Given the description of an element on the screen output the (x, y) to click on. 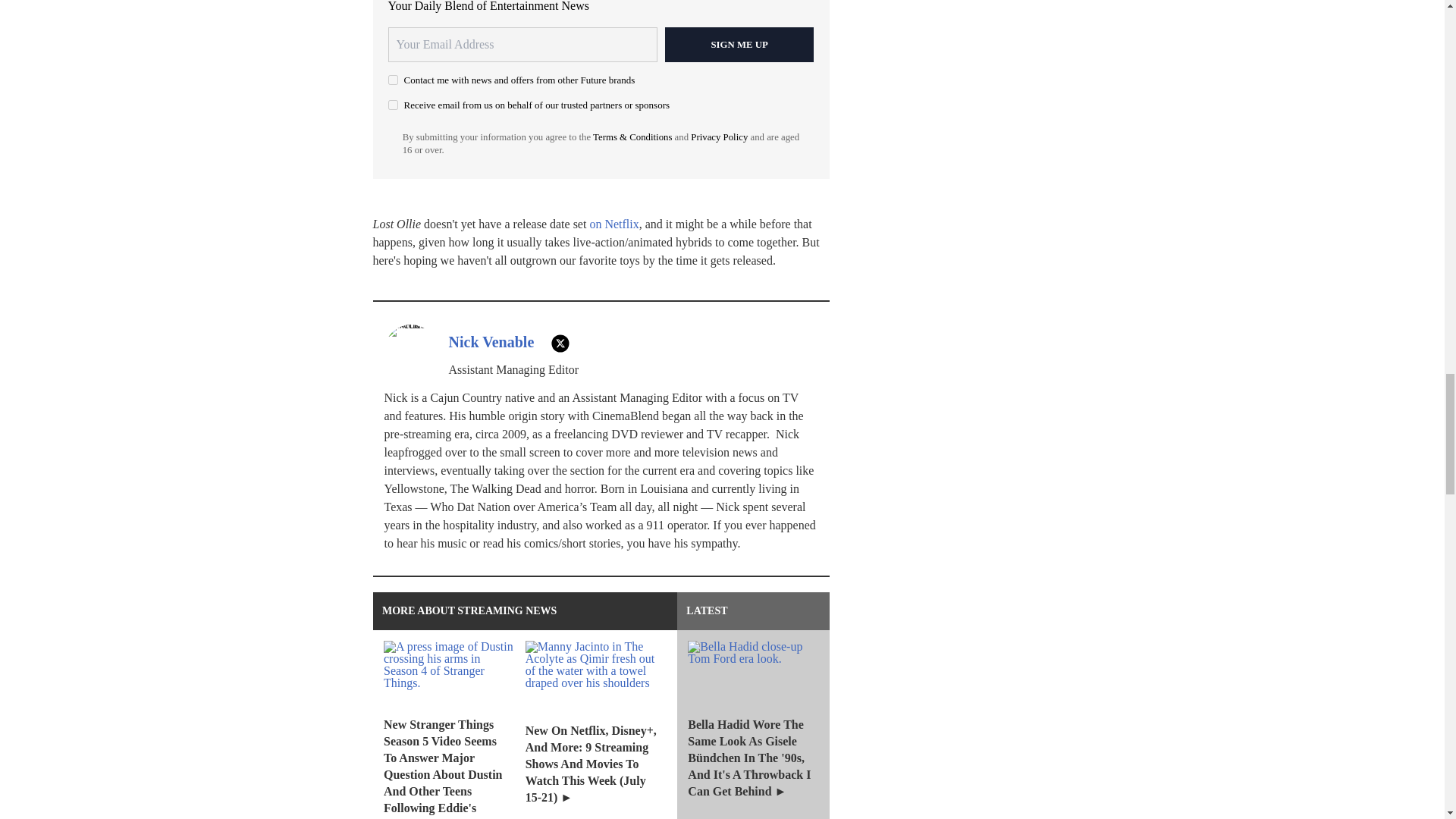
on (392, 104)
on (392, 80)
Sign me up (739, 44)
